Given the description of an element on the screen output the (x, y) to click on. 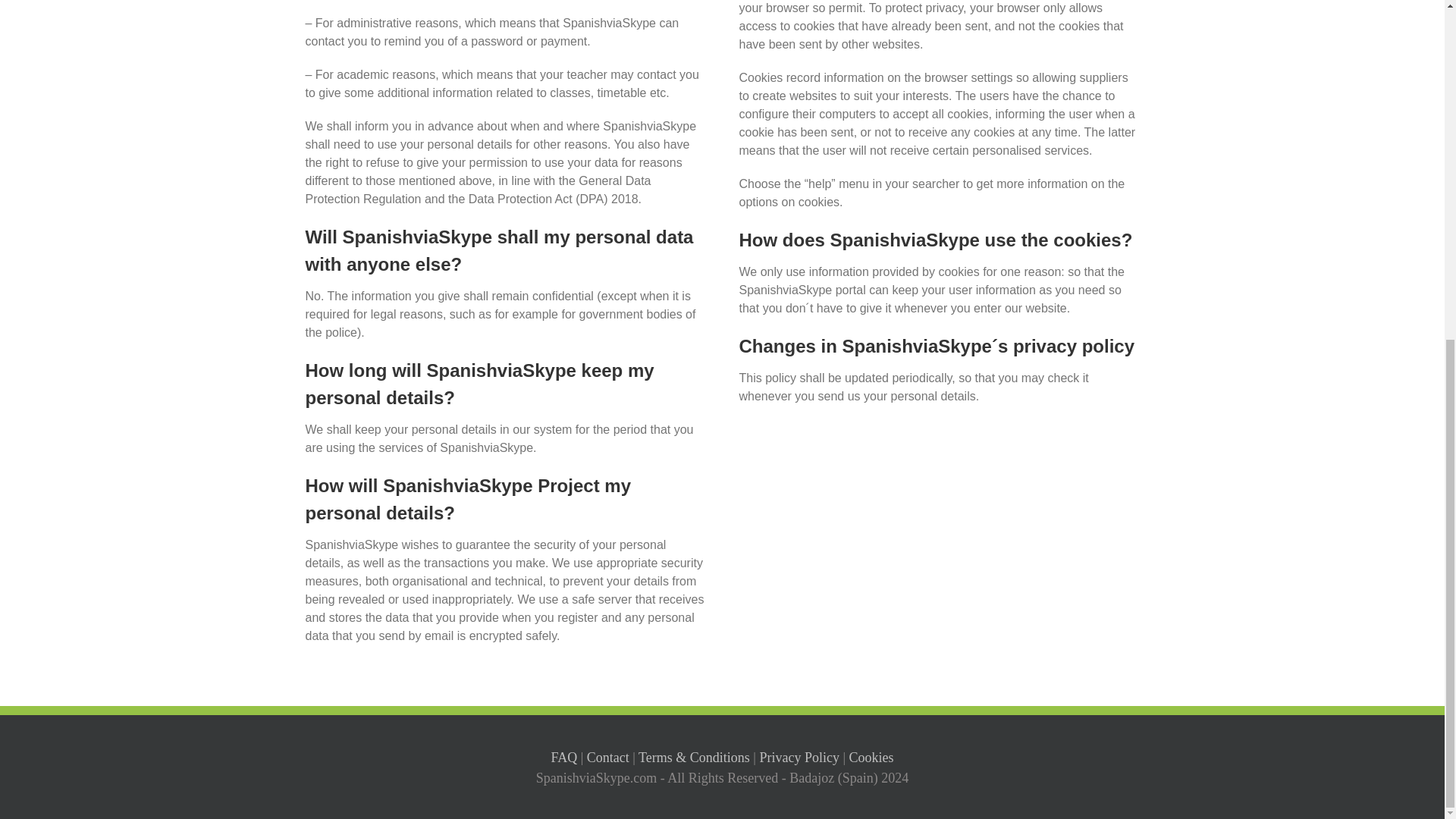
Contact (607, 757)
FAQ (563, 757)
Cookies (870, 757)
Privacy Policy (799, 757)
